Given the description of an element on the screen output the (x, y) to click on. 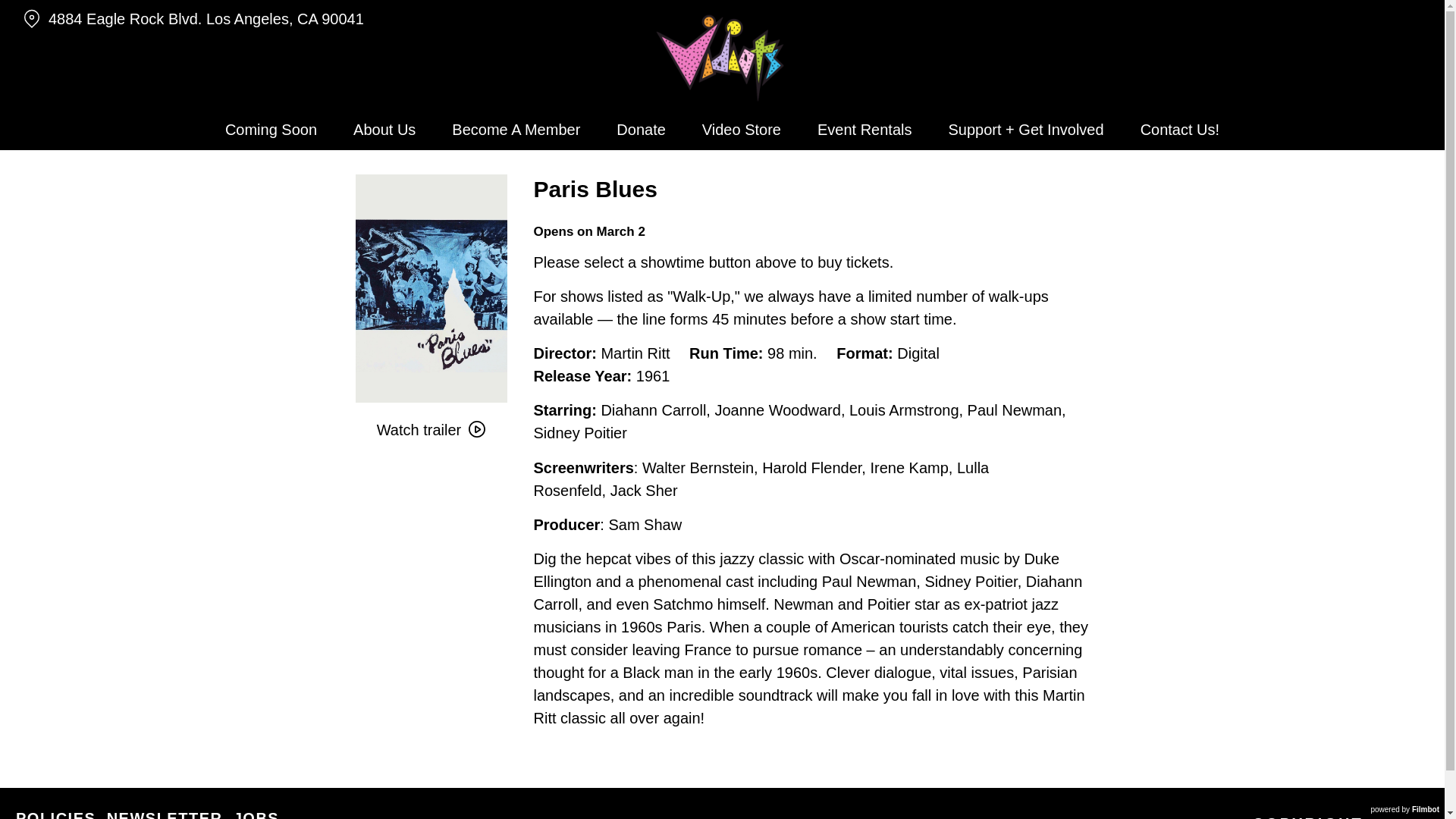
Event Rentals (864, 128)
instagram (1363, 13)
Contact Us! (1179, 128)
POLICIES (56, 814)
Video Store (741, 128)
Donate (641, 128)
facebook (1420, 13)
Watch trailer (430, 429)
4884 Eagle Rock Blvd. Los Angeles, CA 90041 (250, 18)
twitter (1391, 13)
Become A Member (515, 128)
Coming Soon (270, 128)
About Us (384, 128)
